Given the description of an element on the screen output the (x, y) to click on. 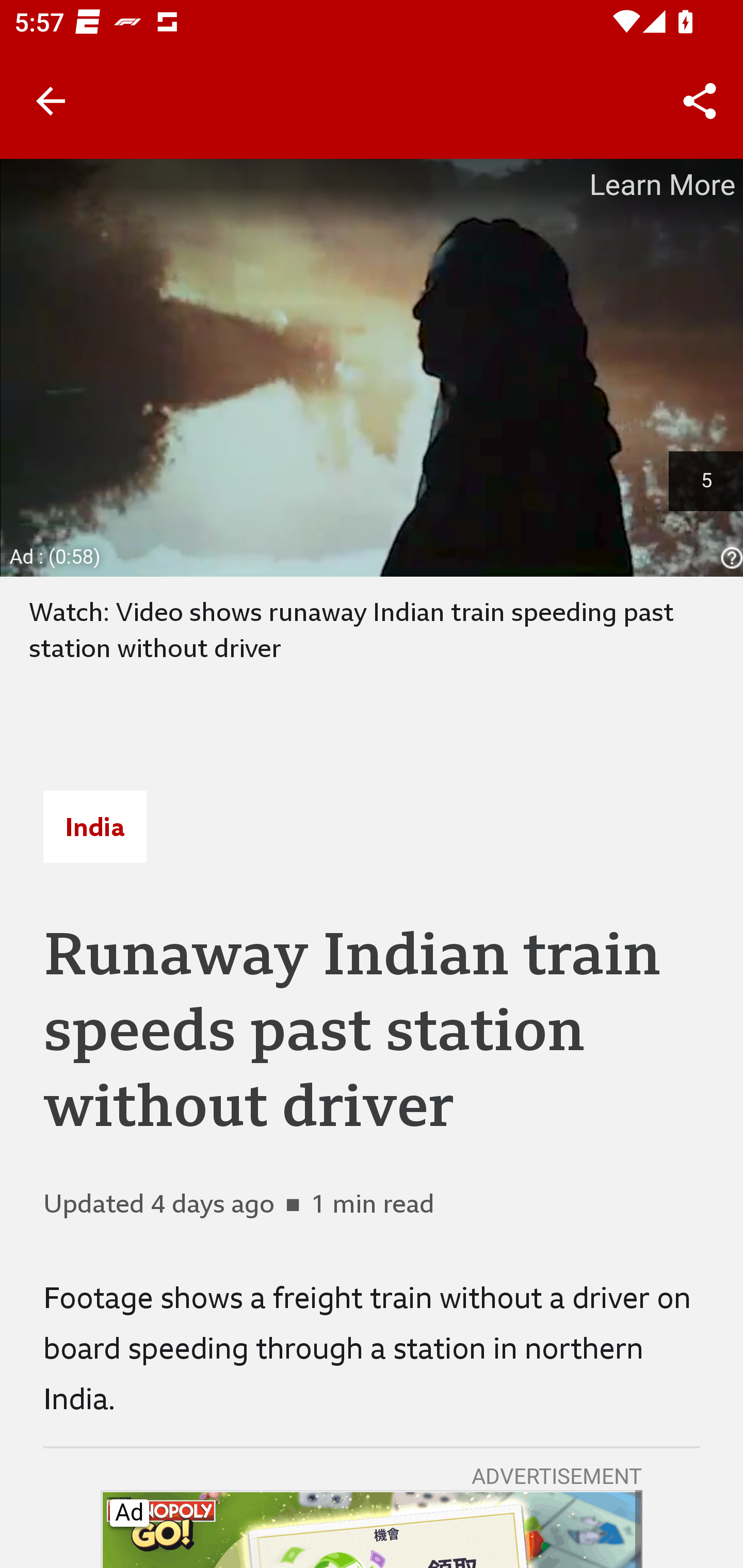
Back (50, 101)
Share (699, 101)
Learn More (660, 184)
Skip Ad Countdown (705, 481)
Ad : (0:59) (55, 556)
help_outline_white_24dp_with_3px_trbl_padding (729, 557)
India (94, 827)
